Given the description of an element on the screen output the (x, y) to click on. 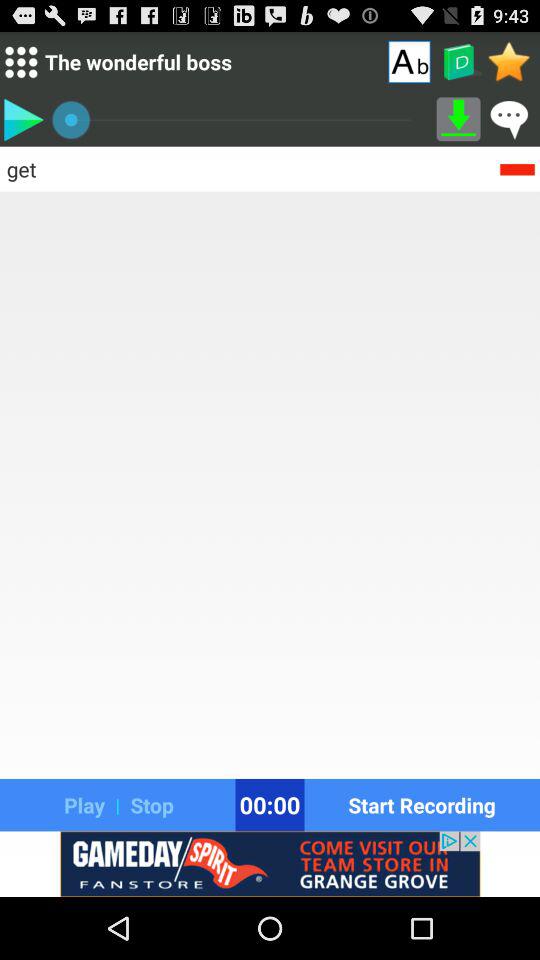
delete item (517, 168)
